Given the description of an element on the screen output the (x, y) to click on. 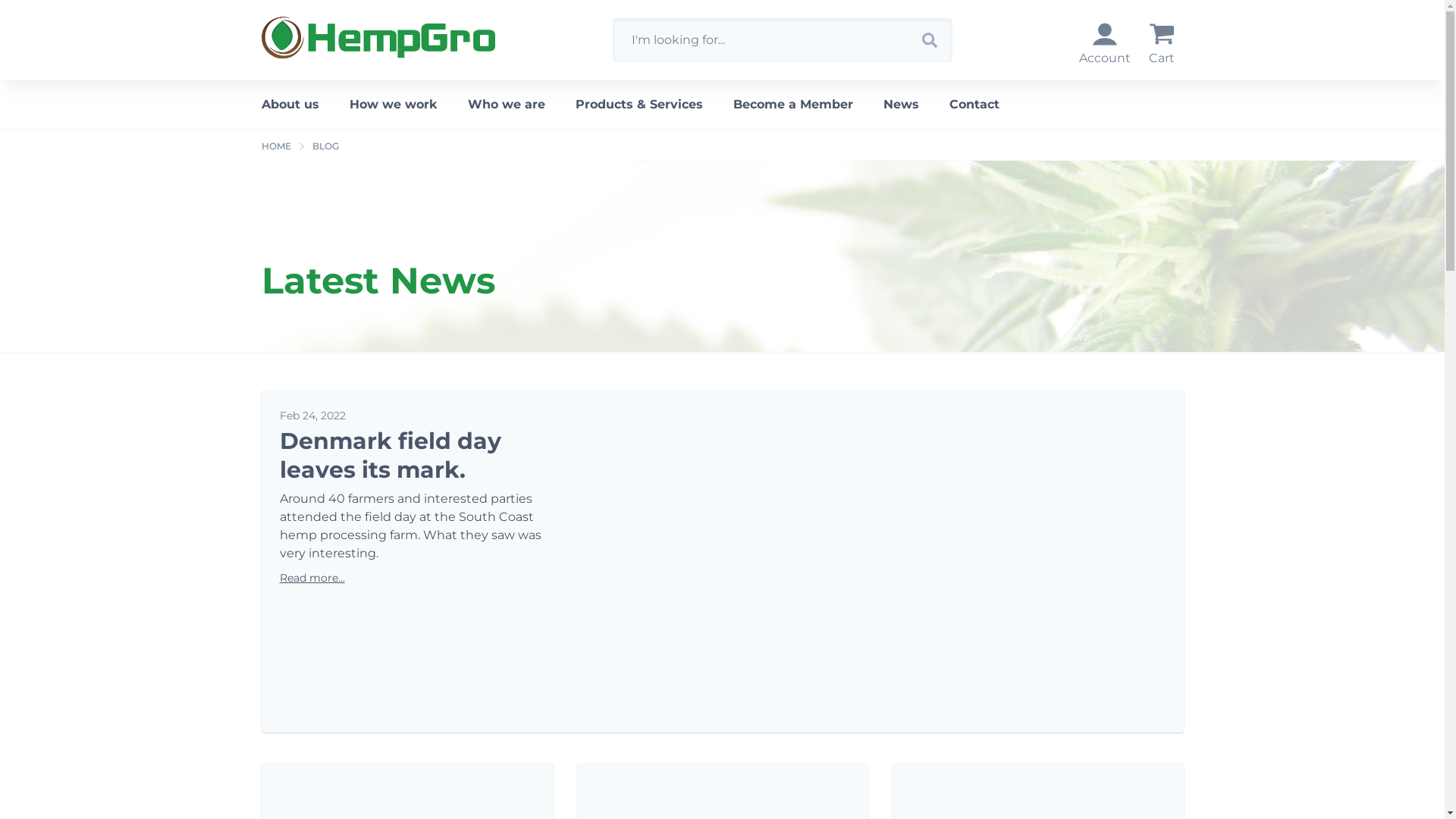
HOME Element type: text (275, 146)
Become a Member Element type: text (792, 104)
News Element type: text (900, 104)
BLOG Element type: text (325, 146)
Denmark field day leaves its mark. Element type: text (389, 454)
Contact Element type: text (974, 104)
Cart Element type: text (1161, 44)
Read more... Element type: text (311, 577)
Products & Services Element type: text (638, 104)
How we work Element type: text (392, 104)
Who we are Element type: text (505, 104)
Account Element type: text (1104, 44)
About us Element type: text (296, 104)
